Given the description of an element on the screen output the (x, y) to click on. 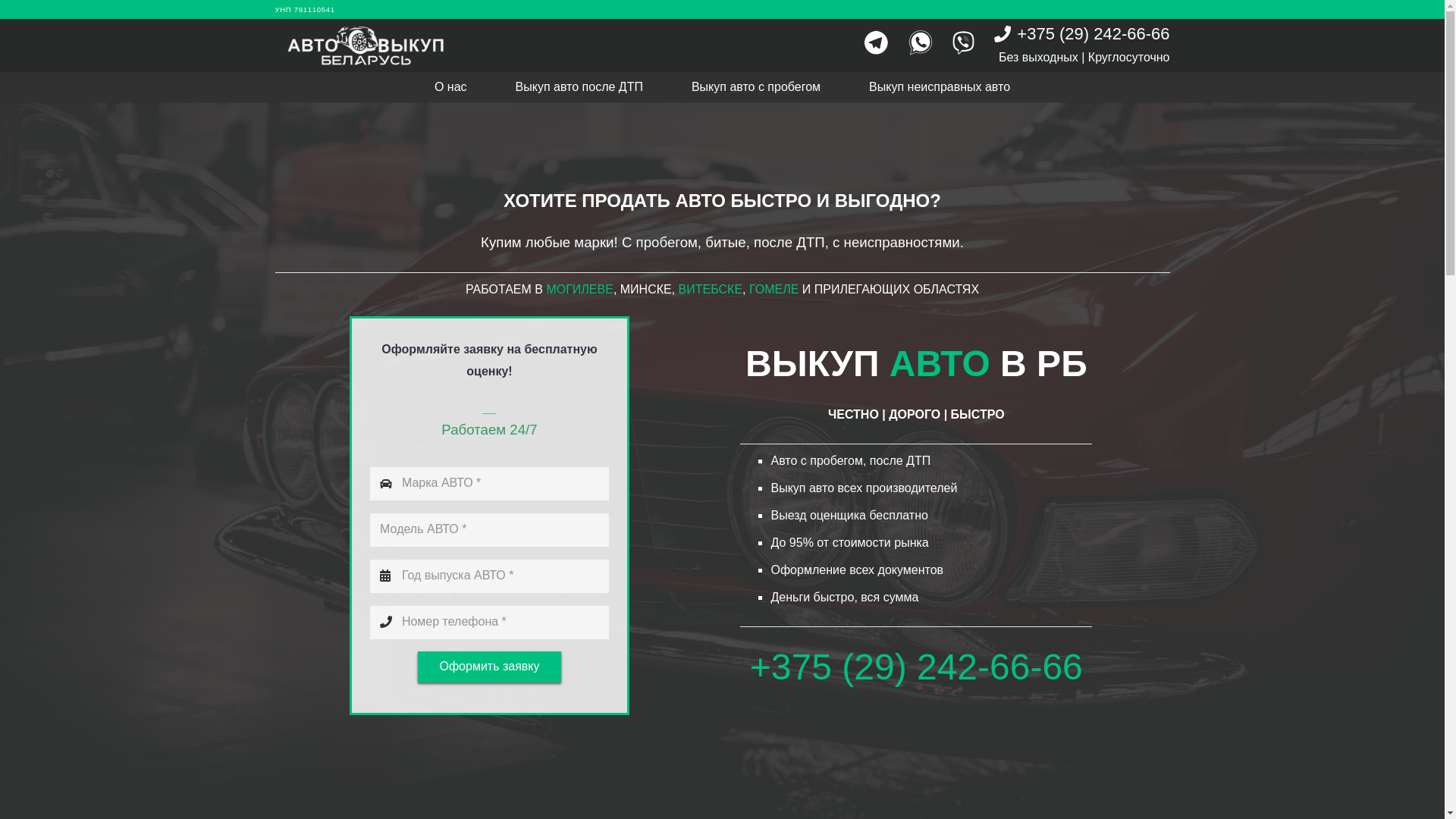
+375 (29) 242-66-66 Element type: text (915, 666)
+375 (29) 242-66-66 Element type: text (1082, 33)
